Given the description of an element on the screen output the (x, y) to click on. 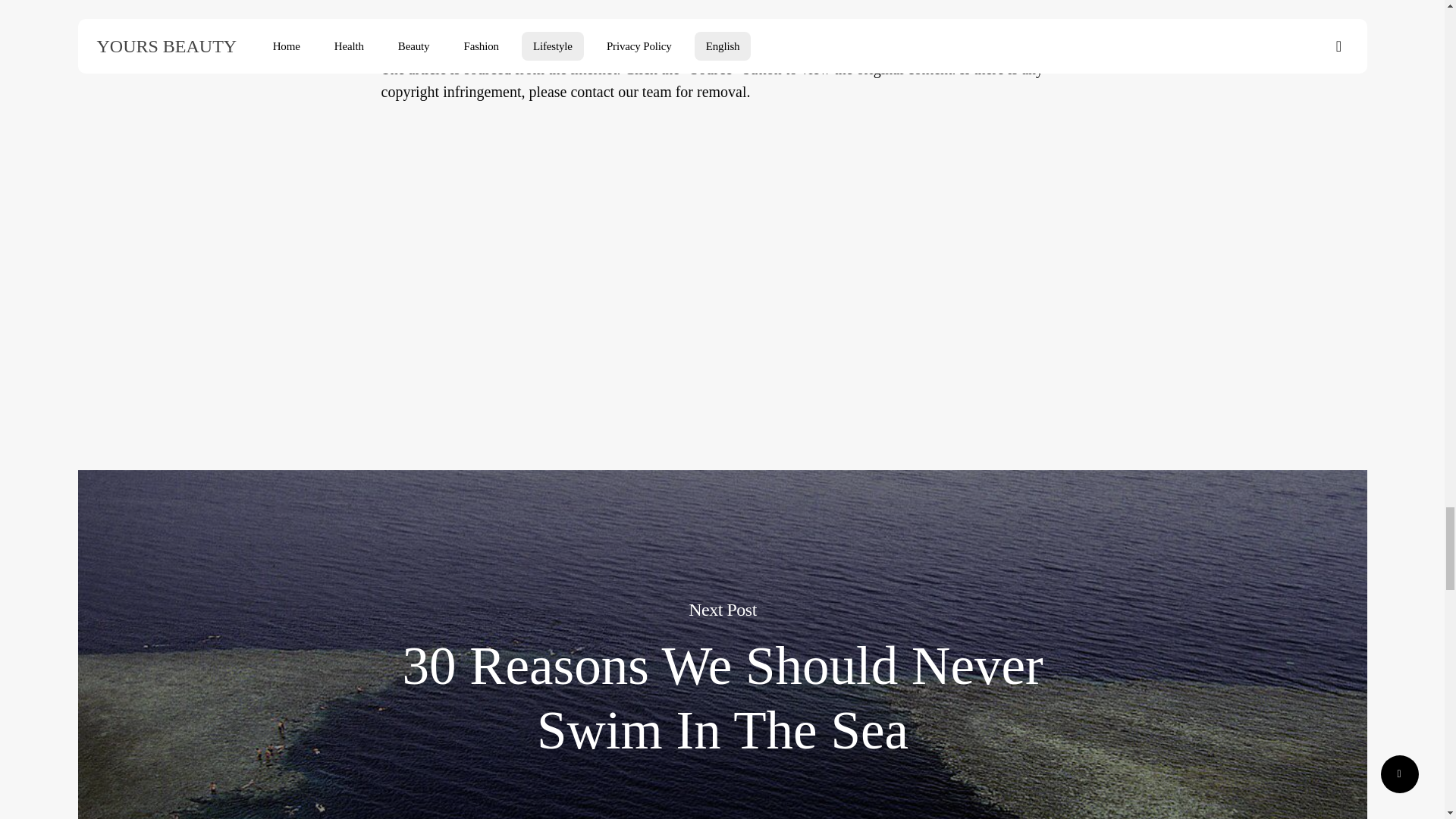
30 Reasons We Should Never Swim In The Sea (722, 698)
source (400, 45)
